Given the description of an element on the screen output the (x, y) to click on. 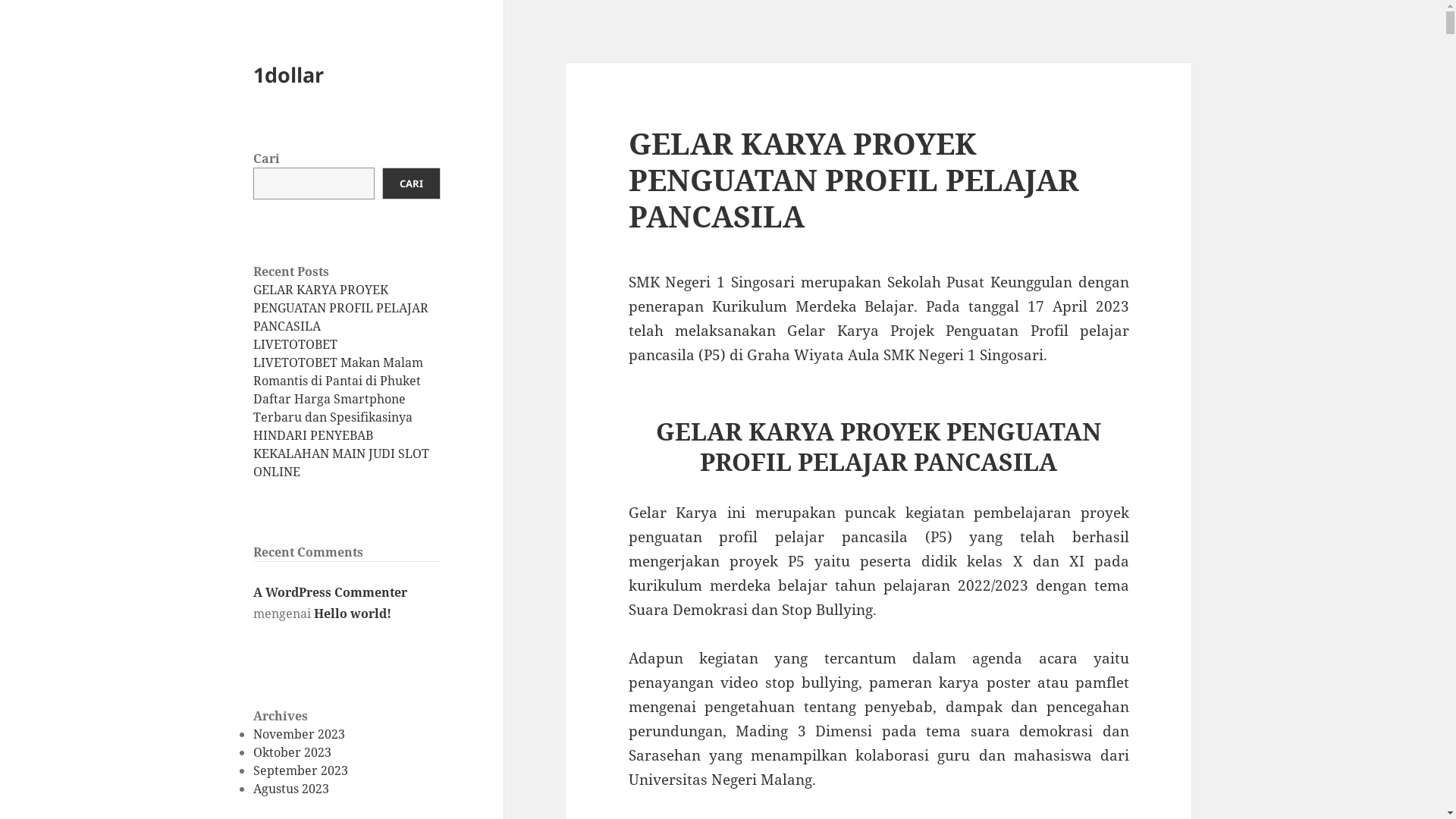
A WordPress Commenter Element type: text (330, 591)
1dollar Element type: text (288, 74)
GELAR KARYA PROYEK PENGUATAN PROFIL PELAJAR PANCASILA Element type: text (853, 178)
Oktober 2023 Element type: text (292, 751)
LIVETOTOBET Makan Malam Romantis di Pantai di Phuket Element type: text (338, 371)
GELAR KARYA PROYEK PENGUATAN PROFIL PELAJAR PANCASILA Element type: text (340, 307)
September 2023 Element type: text (300, 770)
Agustus 2023 Element type: text (291, 788)
Daftar Harga Smartphone Terbaru dan Spesifikasinya Element type: text (332, 407)
November 2023 Element type: text (299, 733)
Hello world! Element type: text (352, 613)
LIVETOTOBET Element type: text (295, 343)
HINDARI PENYEBAB KEKALAHAN MAIN JUDI SLOT ONLINE Element type: text (341, 453)
CARI Element type: text (411, 183)
